Given the description of an element on the screen output the (x, y) to click on. 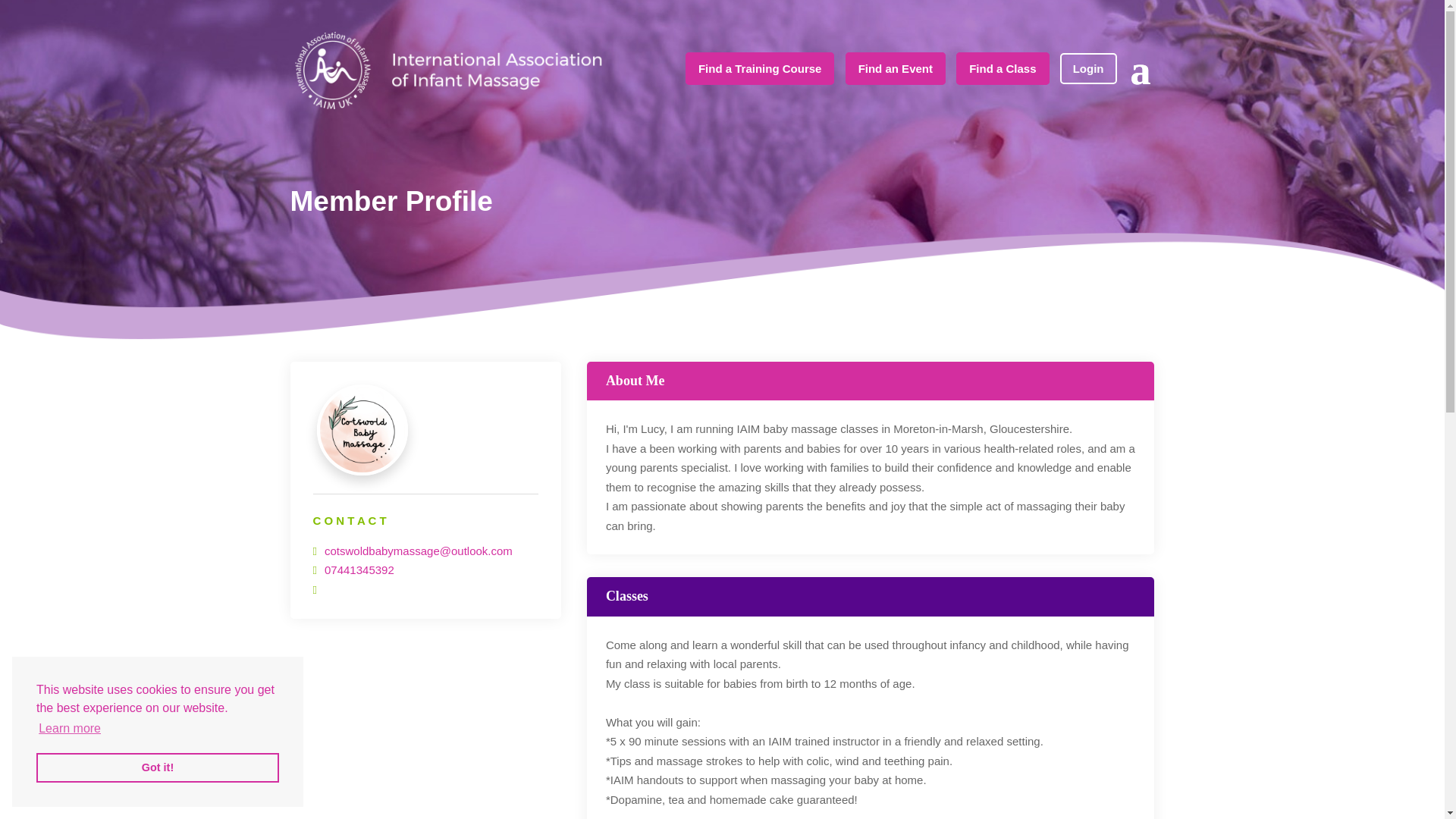
Learn more (69, 728)
Find an Event (894, 68)
Got it! (157, 767)
07441345392 (359, 569)
Login (1087, 68)
Find a Training Course (759, 68)
Find a Class (1002, 68)
